Given the description of an element on the screen output the (x, y) to click on. 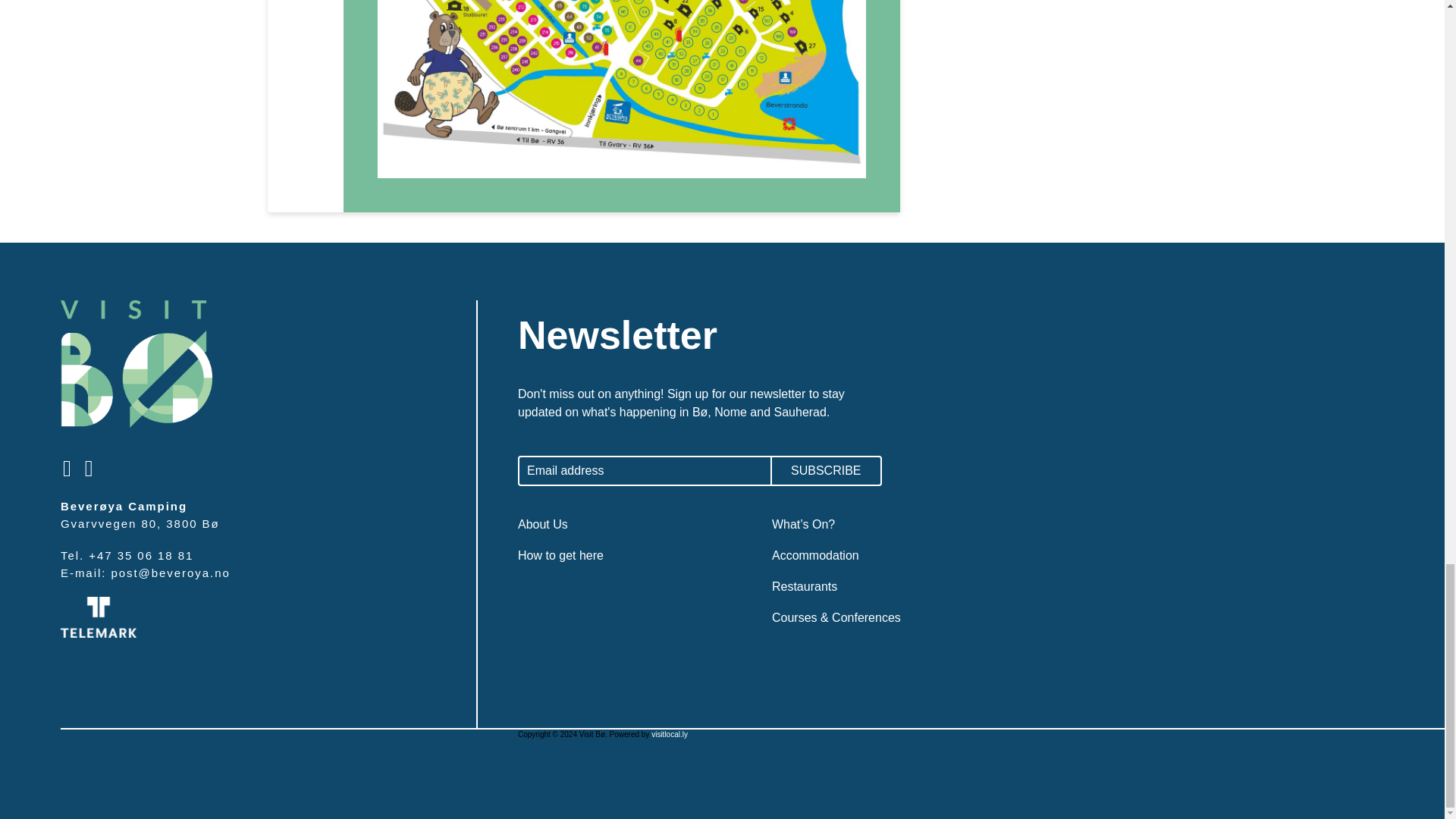
How to get here (561, 554)
SUBSCRIBE (826, 470)
visitlocal.ly (668, 734)
35 06 18 81 (155, 554)
SUBSCRIBE (826, 470)
Restaurants (804, 585)
Accommodation (815, 554)
About Us (542, 523)
